Given the description of an element on the screen output the (x, y) to click on. 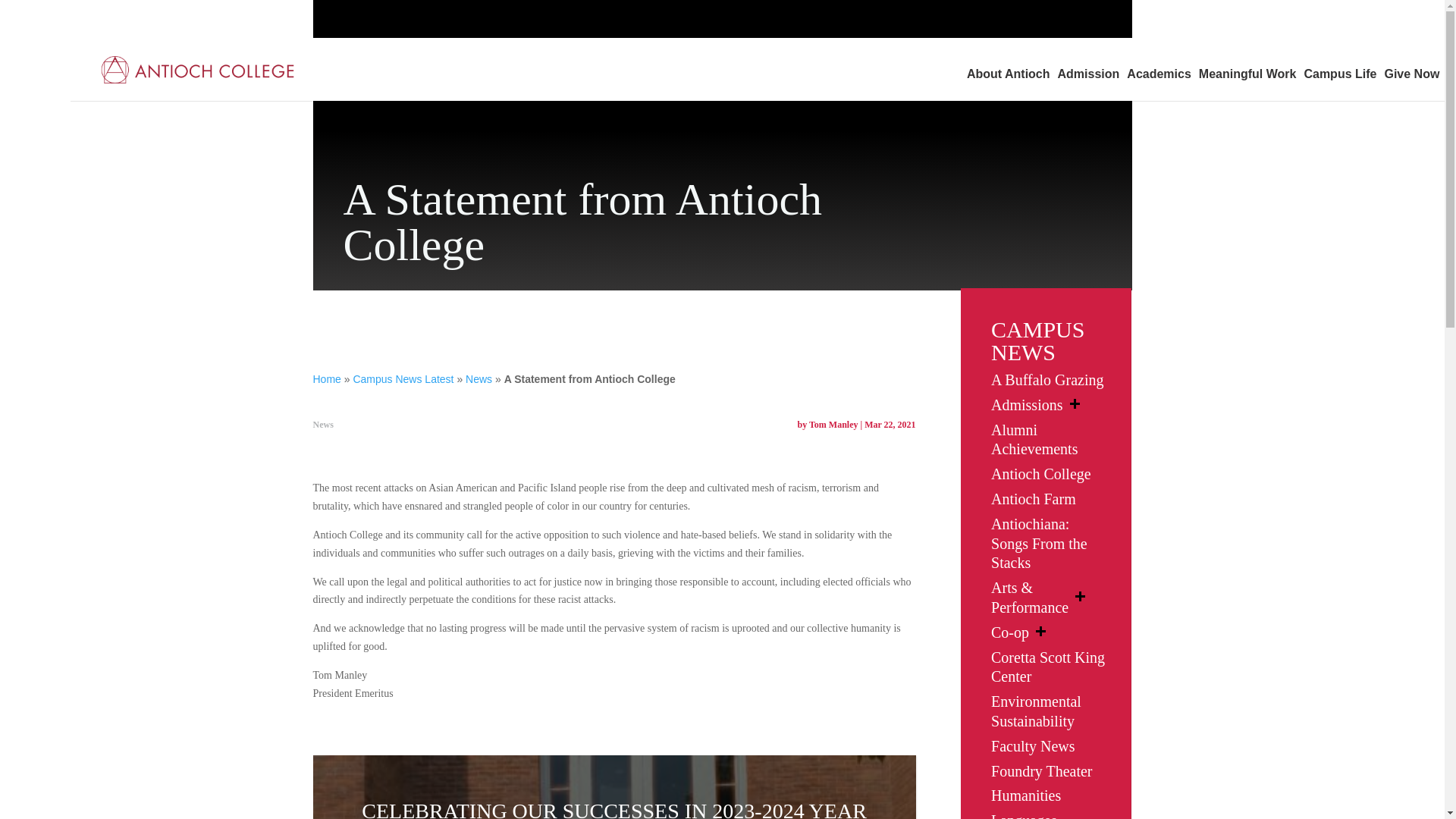
Posts by Tom Manley (834, 424)
Academics (1158, 81)
About Antioch (1007, 81)
Admission (1088, 81)
